Given the description of an element on the screen output the (x, y) to click on. 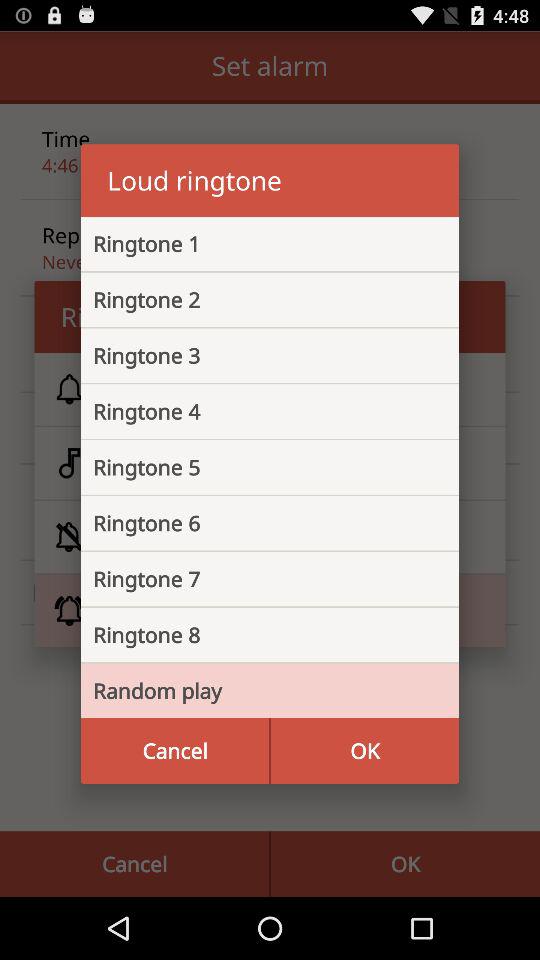
select item below the ringtone 6 app (254, 579)
